Given the description of an element on the screen output the (x, y) to click on. 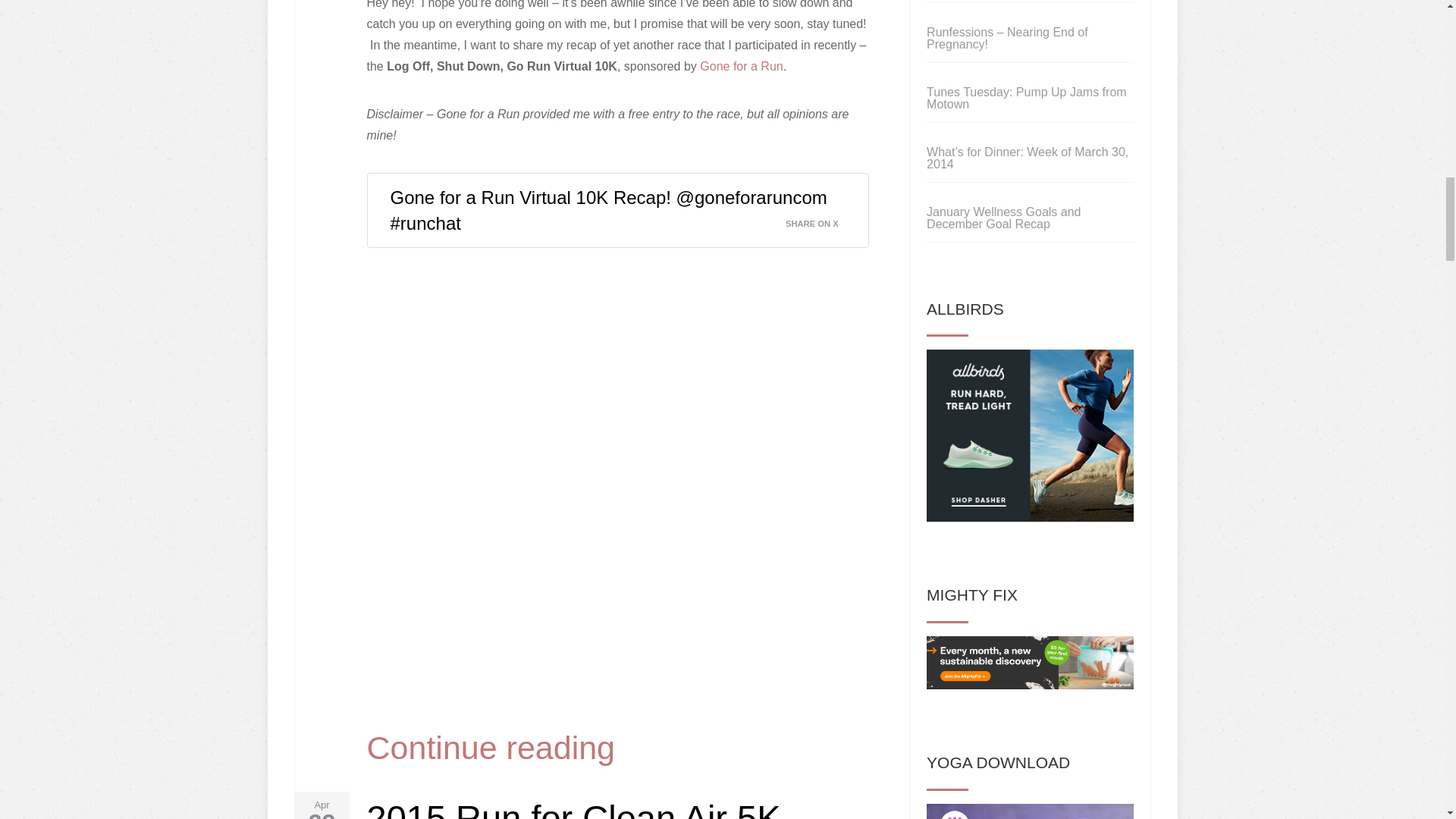
2015 Run for Clean Air 5K Recap (573, 808)
Gone for a Run (741, 65)
SHARE ON X (821, 219)
Continue reading (490, 747)
